Given the description of an element on the screen output the (x, y) to click on. 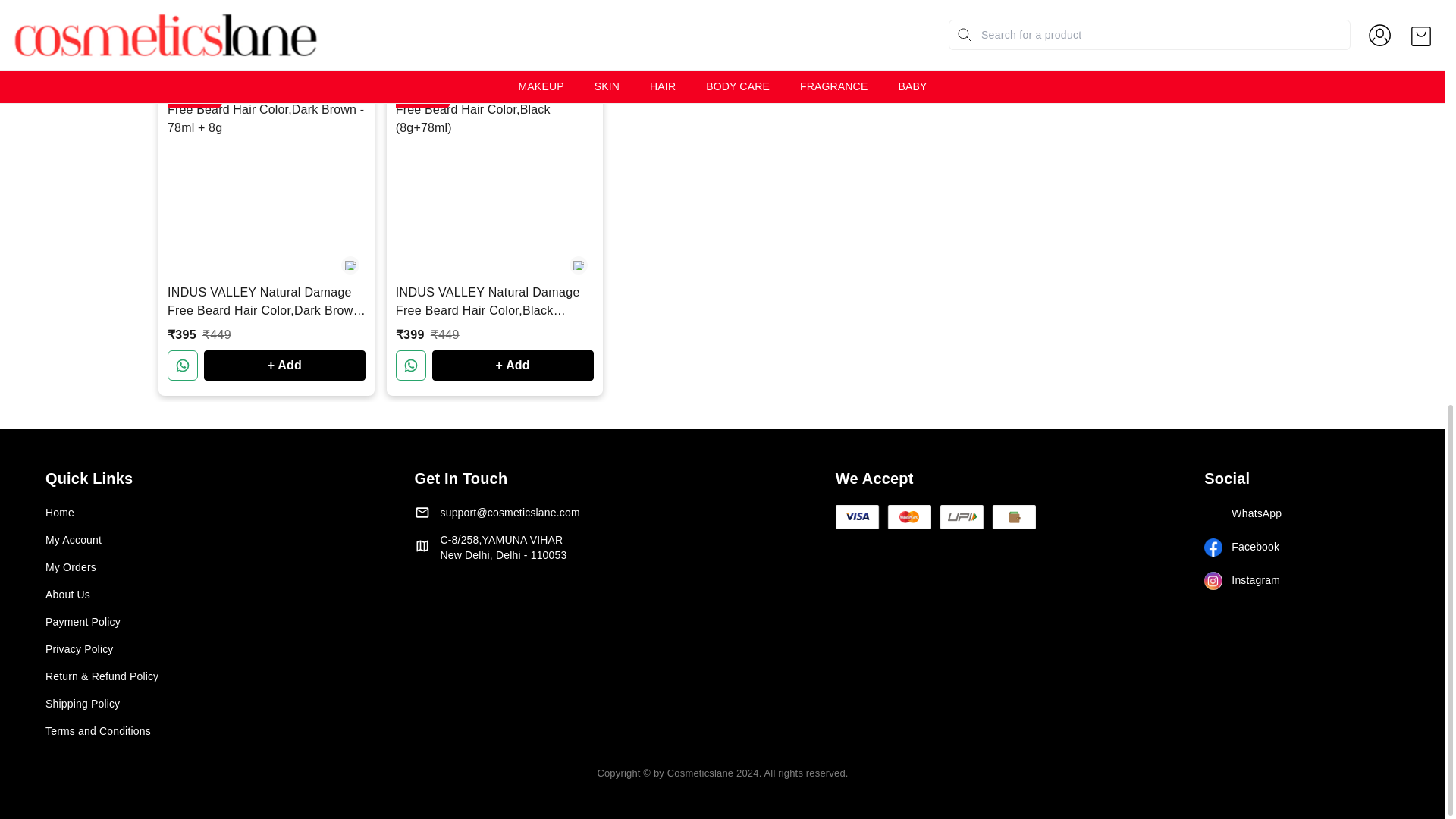
WhatsApp (1301, 514)
My Account (214, 539)
Payment Policy (214, 621)
Terms and Conditions (214, 730)
About Us (214, 594)
Shipping Policy (214, 703)
Facebook (1301, 547)
Privacy Policy (214, 648)
Home (214, 512)
My Orders (214, 566)
